Given the description of an element on the screen output the (x, y) to click on. 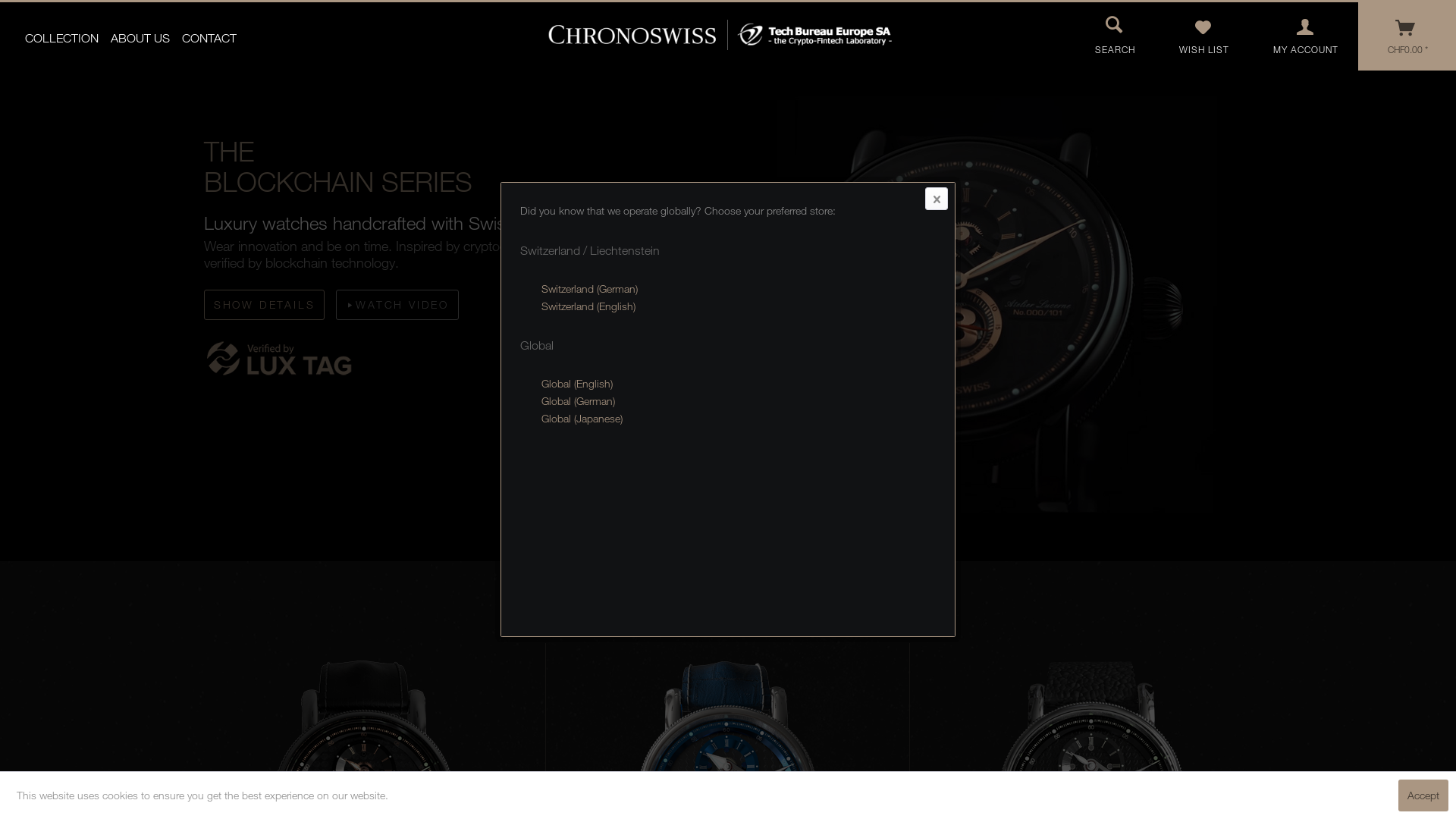
Global (Japanese) Element type: text (581, 417)
ABOUT US Element type: text (139, 38)
Accept Element type: text (1423, 795)
Switzerland (English) Element type: text (588, 305)
WATCH VIDEO Element type: text (396, 304)
Global (English) Element type: text (576, 382)
Tech Bureau Europe & Chronoswiss (CH) - Switch to homepage Element type: hover (727, 34)
SEARCH Element type: text (1111, 33)
Global (German) Element type: text (578, 400)
COLLECTION Element type: text (61, 38)
WISH LIST Element type: text (1203, 35)
CONTACT Element type: text (208, 38)
Switzerland (German) Element type: text (589, 288)
SHOW DETAILS Element type: text (264, 304)
MY ACCOUNT Element type: text (1305, 35)
